Given the description of an element on the screen output the (x, y) to click on. 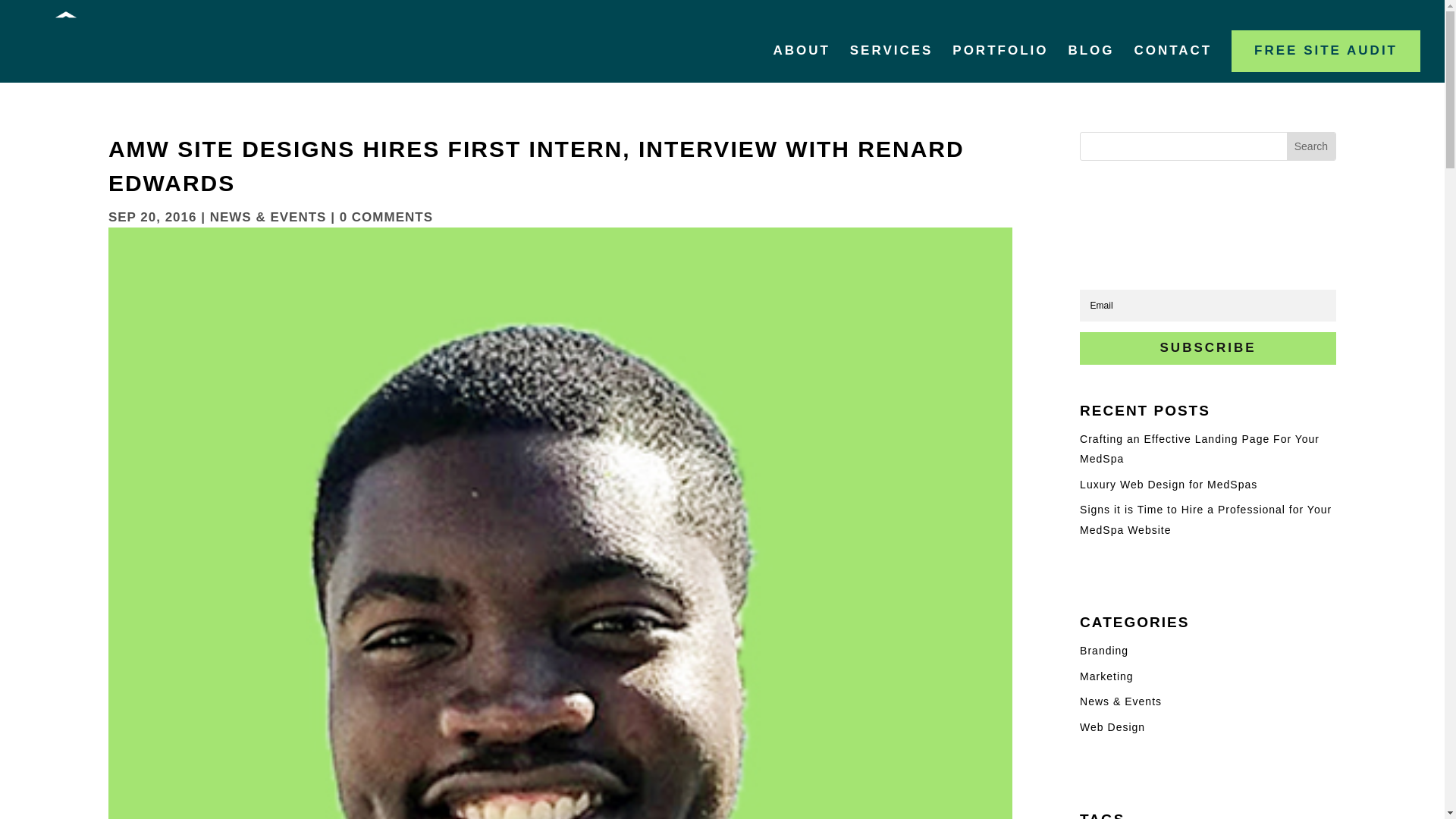
Search (1311, 145)
Marketing (1106, 676)
Search (1311, 145)
PORTFOLIO (1000, 73)
Web Design (1112, 727)
CONTACT (1172, 73)
Search (1311, 145)
0 COMMENTS (385, 216)
SUBSCRIBE (1208, 348)
